Given the description of an element on the screen output the (x, y) to click on. 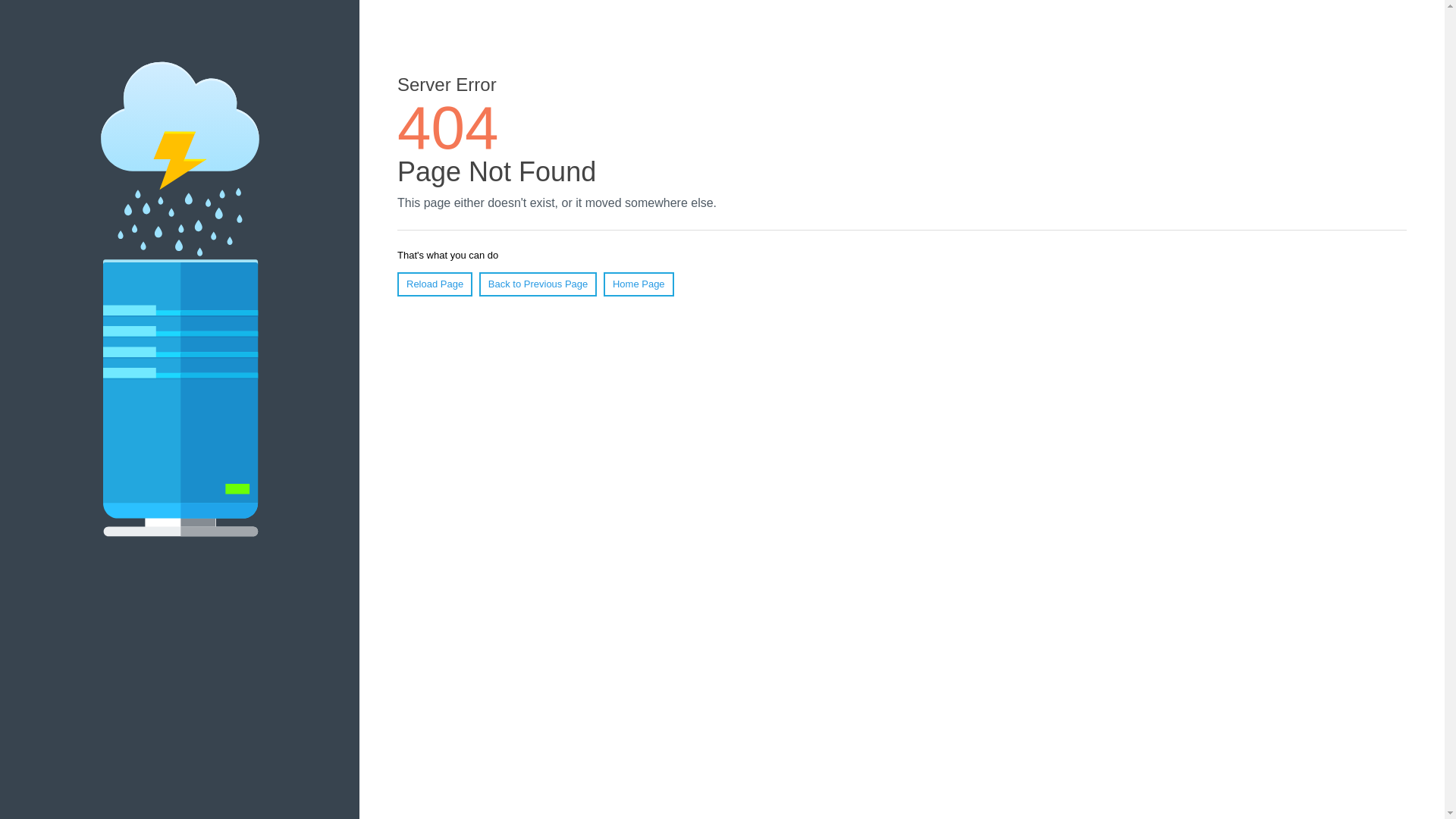
Back to Previous Page Element type: text (538, 284)
Reload Page Element type: text (434, 284)
Home Page Element type: text (638, 284)
